Given the description of an element on the screen output the (x, y) to click on. 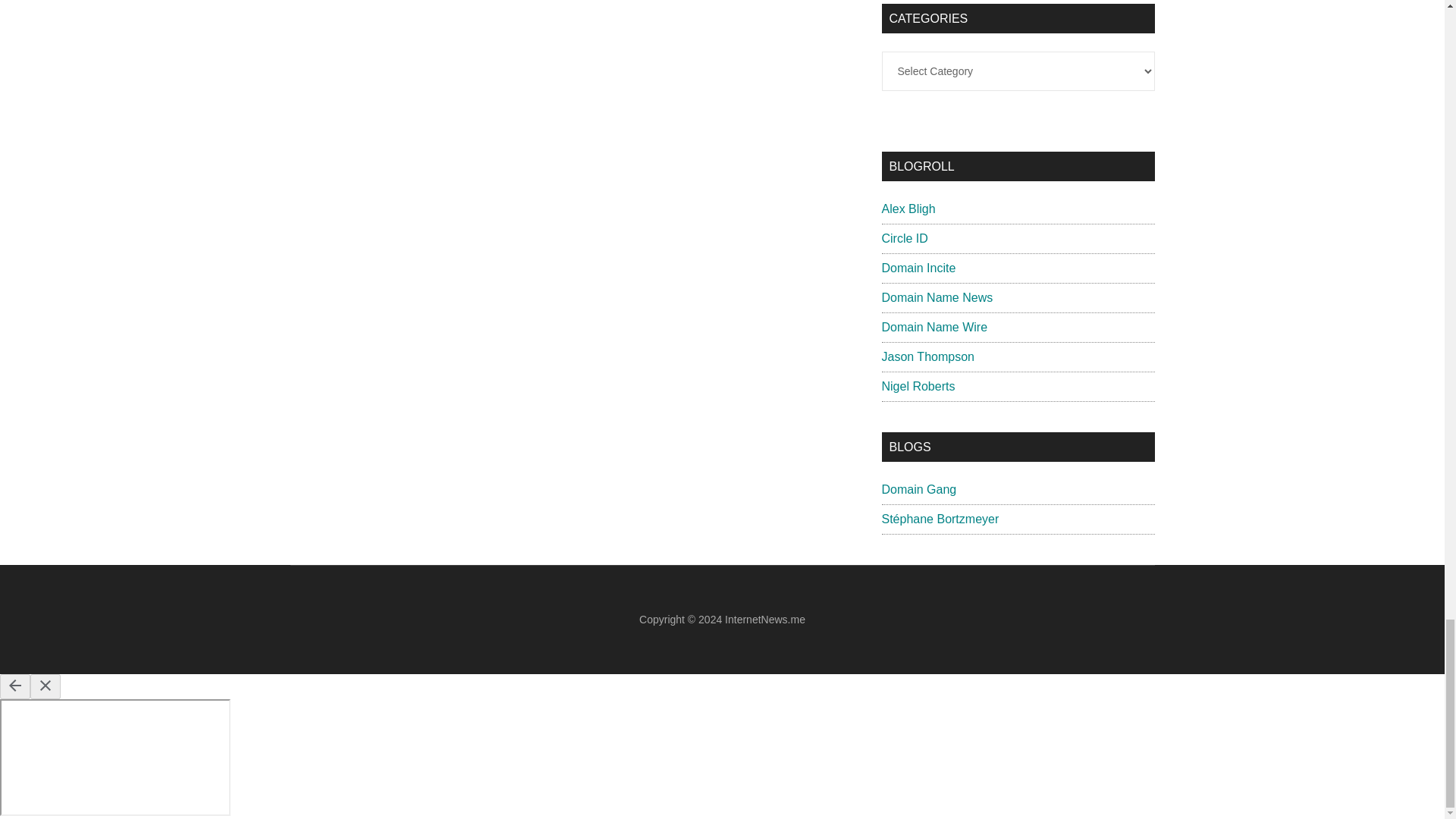
Domain news and humour (918, 489)
Jason Thompson (927, 356)
